Given the description of an element on the screen output the (x, y) to click on. 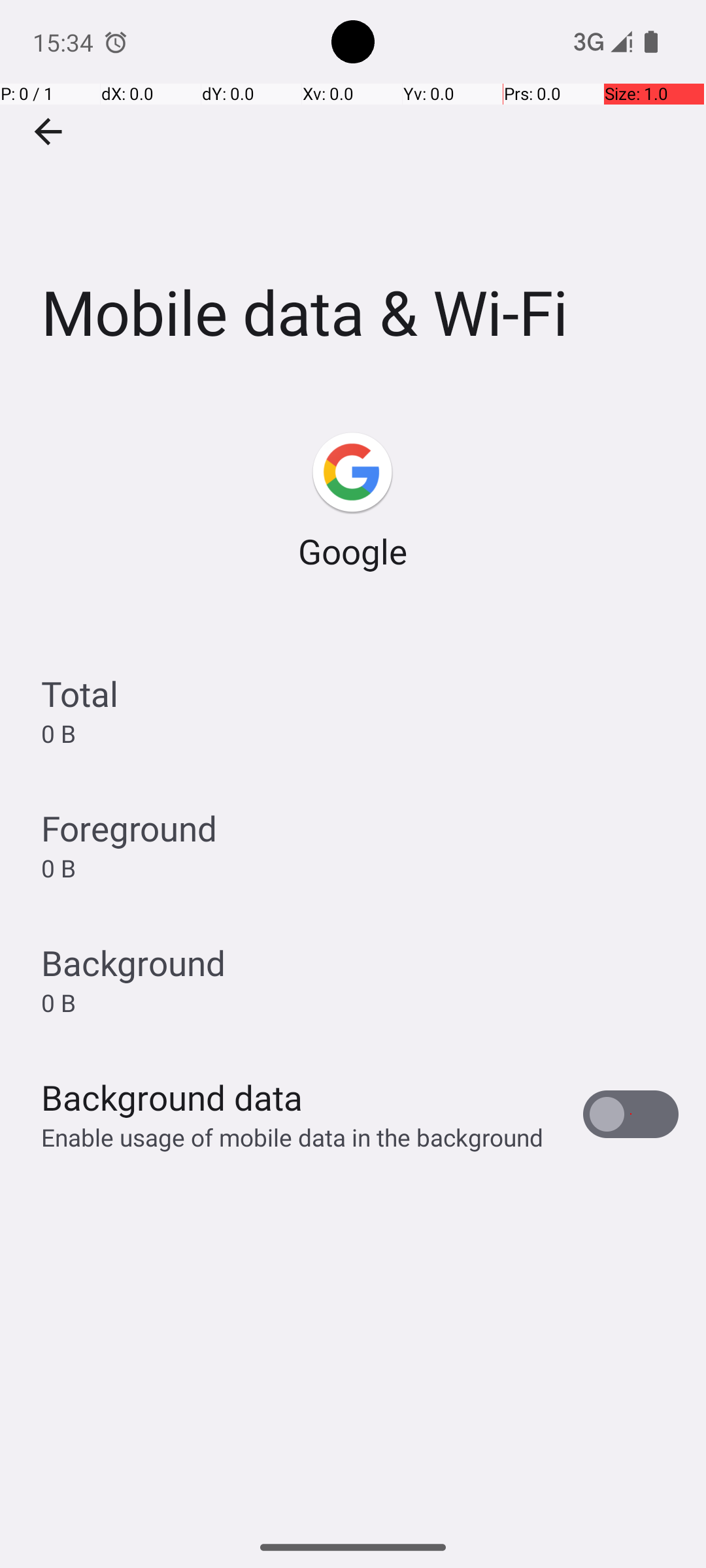
Background data Element type: android.widget.TextView (171, 1097)
Enable usage of mobile data in the background Element type: android.widget.TextView (292, 1136)
